Given the description of an element on the screen output the (x, y) to click on. 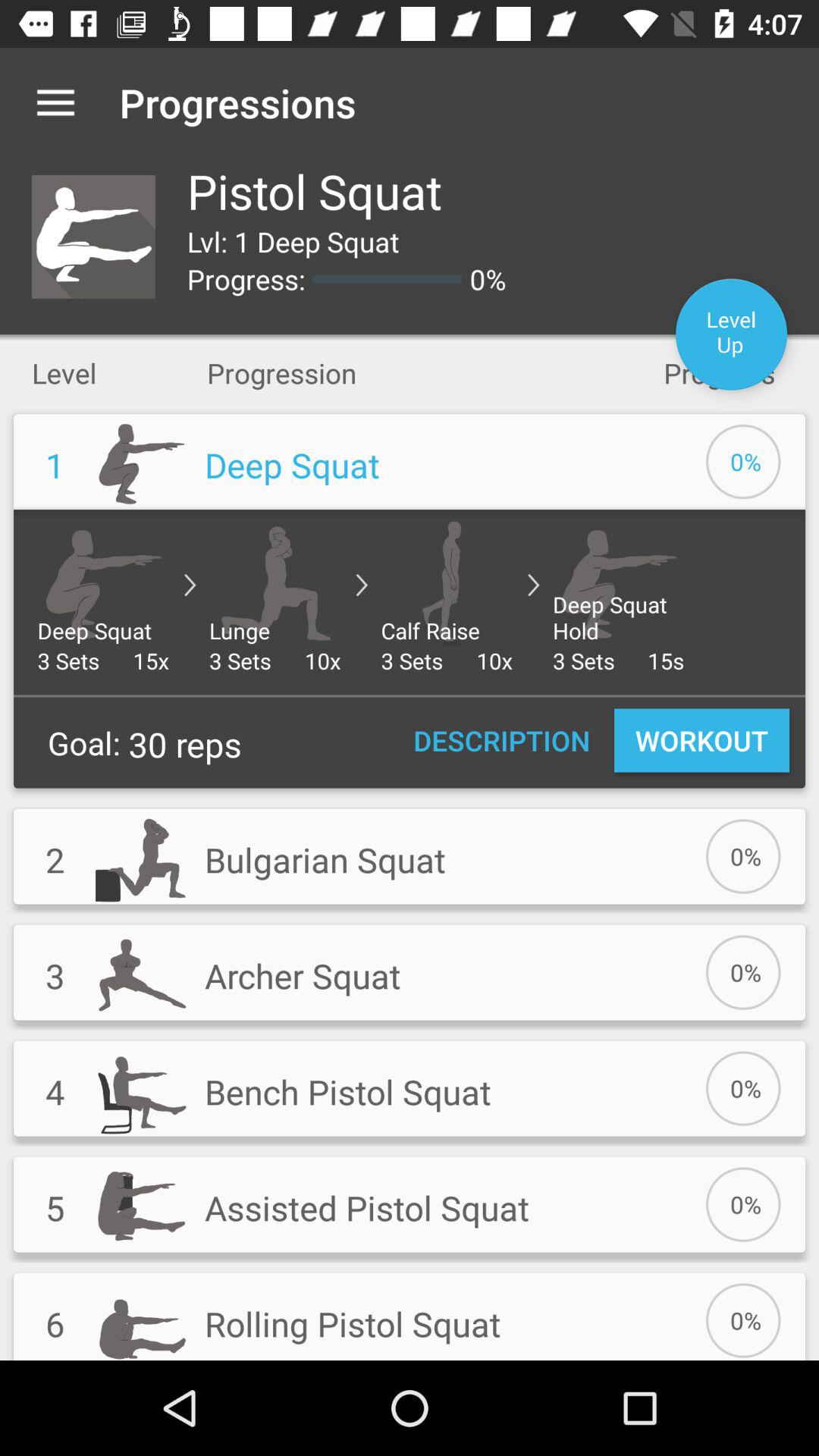
select item to the right of 0% icon (731, 334)
